Given the description of an element on the screen output the (x, y) to click on. 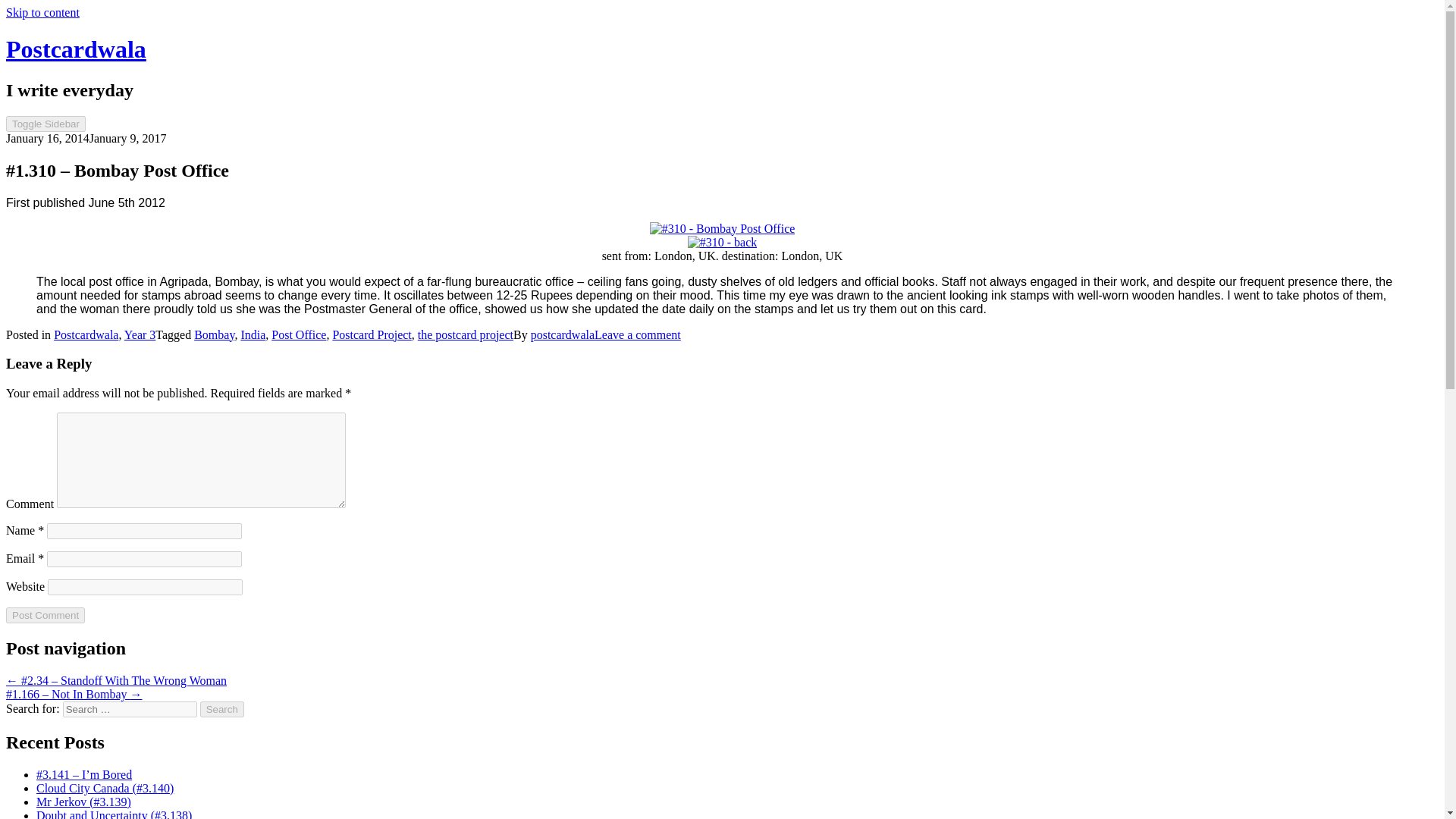
Search (222, 709)
Bombay (213, 334)
postcardwala (562, 334)
Leave a comment (637, 334)
Search (222, 709)
Postcard Project (370, 334)
Post Office (298, 334)
Postcardwala (85, 334)
the postcard project (465, 334)
Post Comment (44, 615)
India (252, 334)
Post Comment (44, 615)
Year 3 (139, 334)
Search (222, 709)
Toggle Sidebar (45, 123)
